Given the description of an element on the screen output the (x, y) to click on. 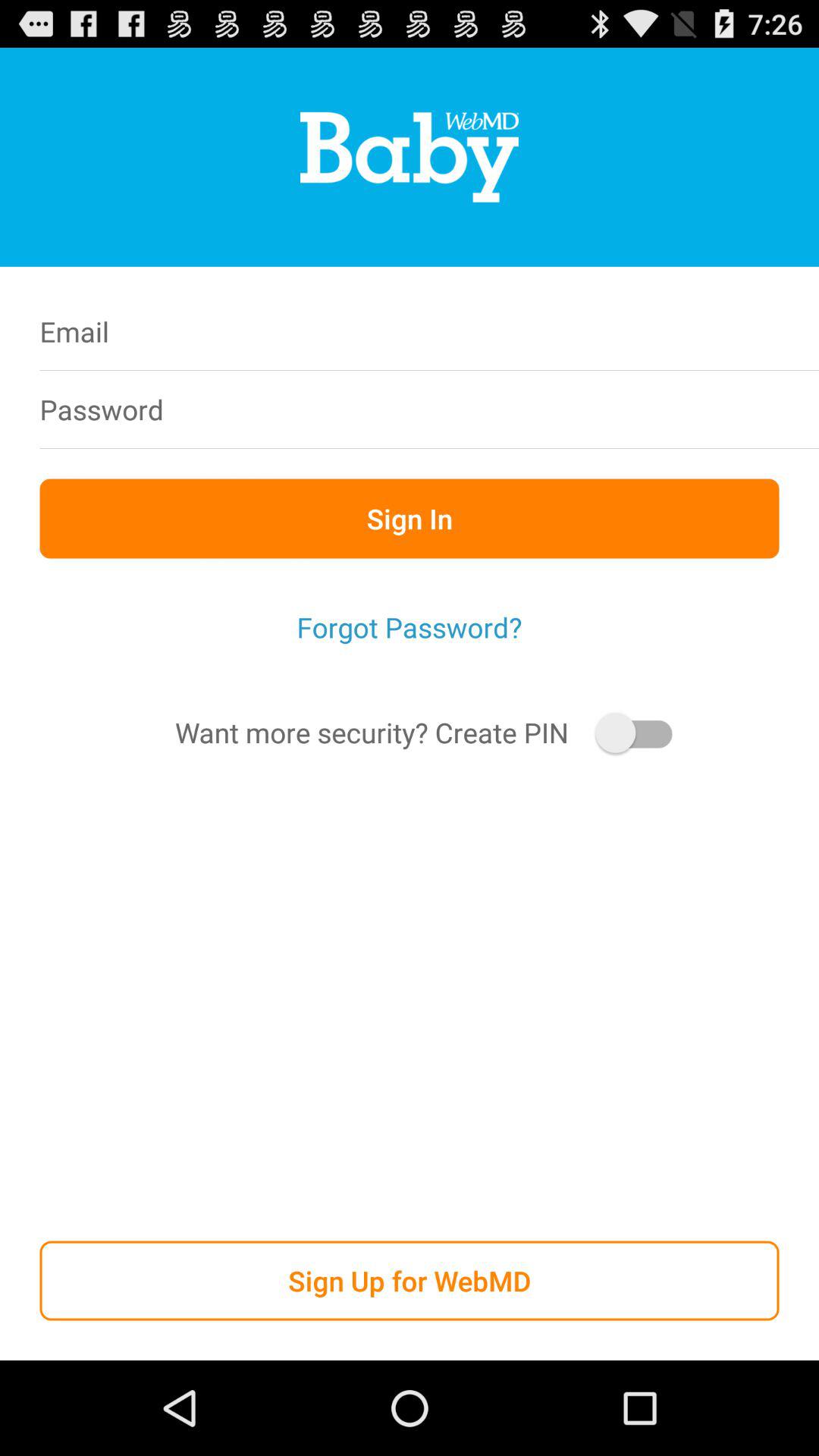
click icon next to email icon (507, 331)
